Given the description of an element on the screen output the (x, y) to click on. 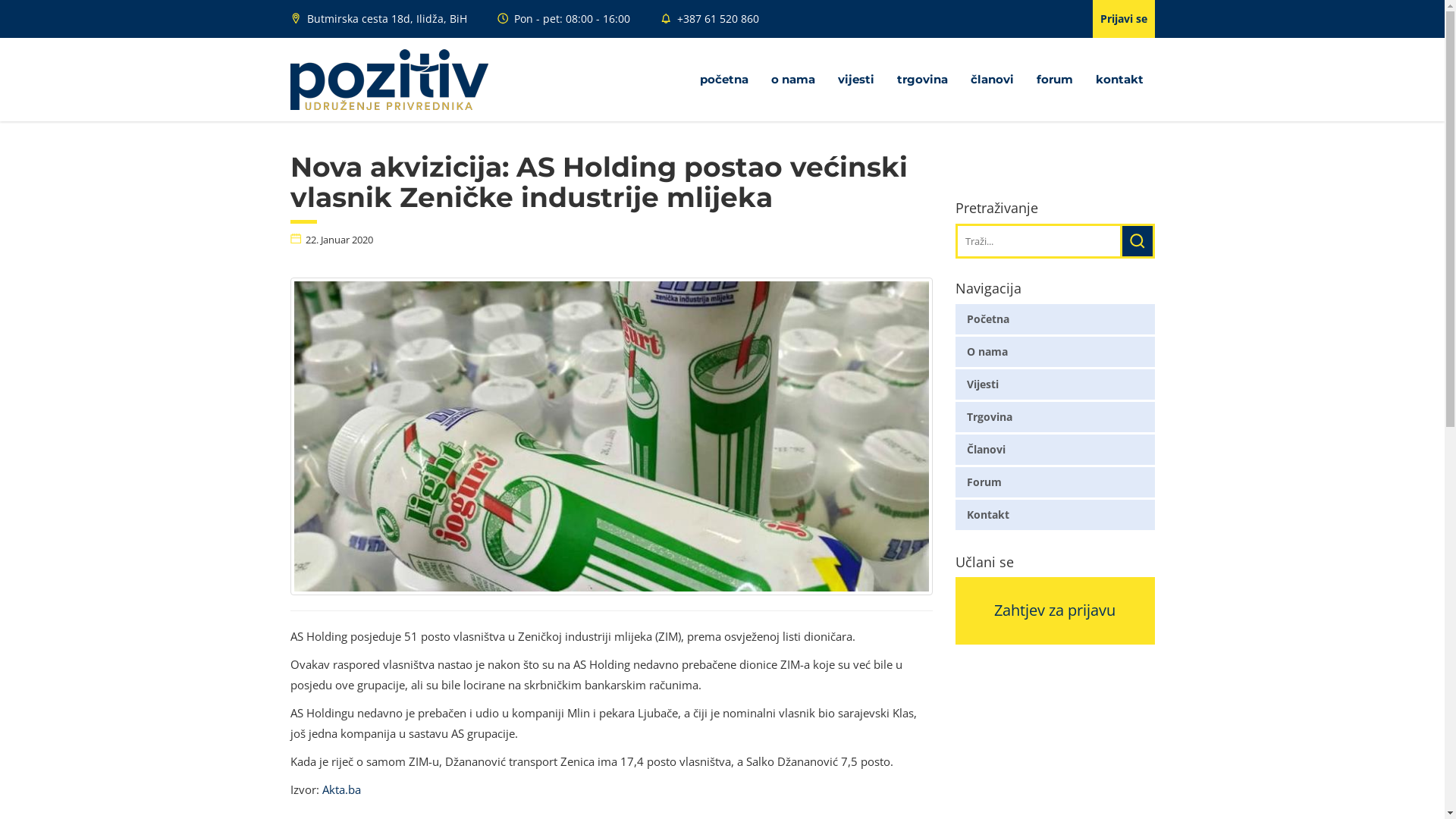
Pozitiv Element type: text (388, 79)
Zahtjev za prijavu Element type: text (1054, 610)
Zahtjev za prijavu Element type: text (721, 734)
forum Element type: text (1054, 79)
Prijavi se Element type: text (1123, 18)
Forum Element type: text (1054, 482)
kontakt Element type: text (1119, 79)
vijesti Element type: text (855, 79)
Akta.ba Element type: text (340, 789)
O nama Element type: text (1054, 351)
o nama Element type: text (792, 79)
Kontakt Element type: text (1054, 514)
Trgovina Element type: text (1054, 416)
Vijesti Element type: text (1054, 384)
trgovina Element type: text (922, 79)
